Given the description of an element on the screen output the (x, y) to click on. 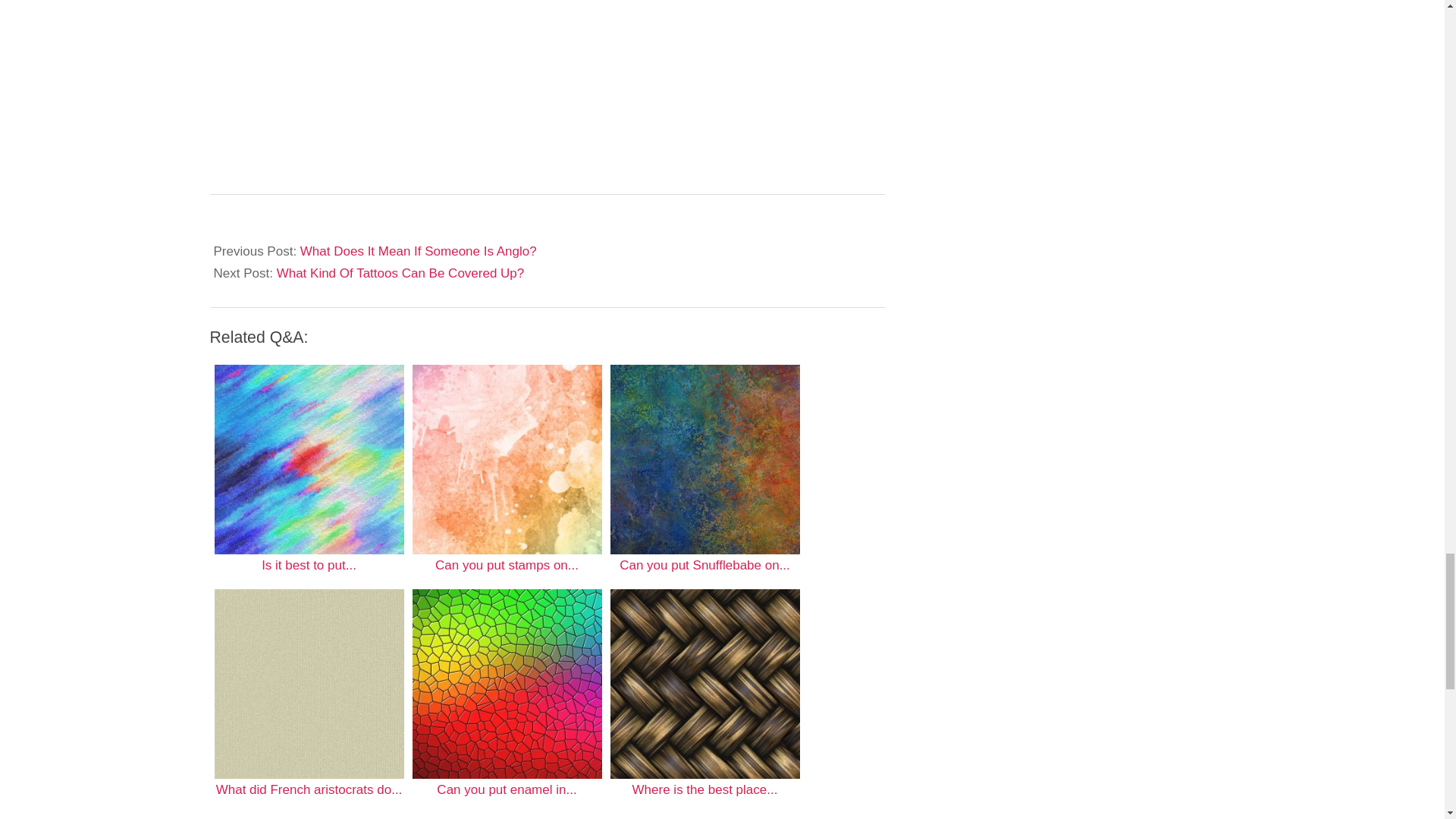
YouTube video player (497, 67)
Where is the best place to put an orchard? (704, 683)
Is it best to put an aggressive dog down? (308, 459)
Can you put Snufflebabe on nose? (704, 459)
Can you put stamps on mailers? (507, 459)
Can you put enamel in the dishwasher? (507, 683)
